Given the description of an element on the screen output the (x, y) to click on. 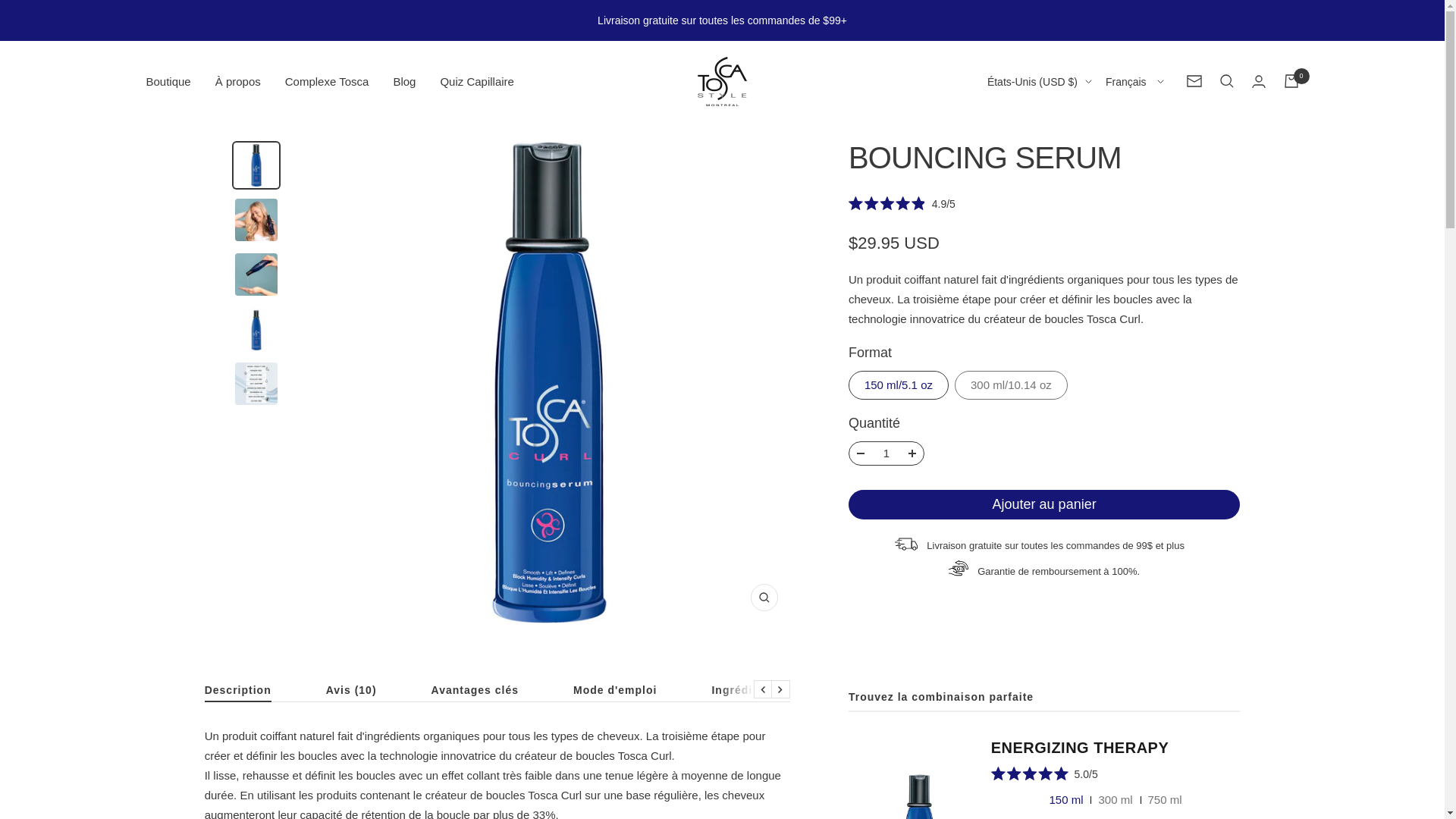
BE (1011, 183)
FR (1011, 308)
Boutique (167, 80)
Quiz Capillaire (476, 80)
en (1129, 133)
ES (1011, 258)
Zoom (764, 596)
US (1011, 283)
DK (1011, 233)
Complexe Tosca (327, 80)
Newsletter (1193, 80)
GB (1011, 433)
IT (1011, 383)
GR (1011, 333)
CA (1011, 208)
